Given the description of an element on the screen output the (x, y) to click on. 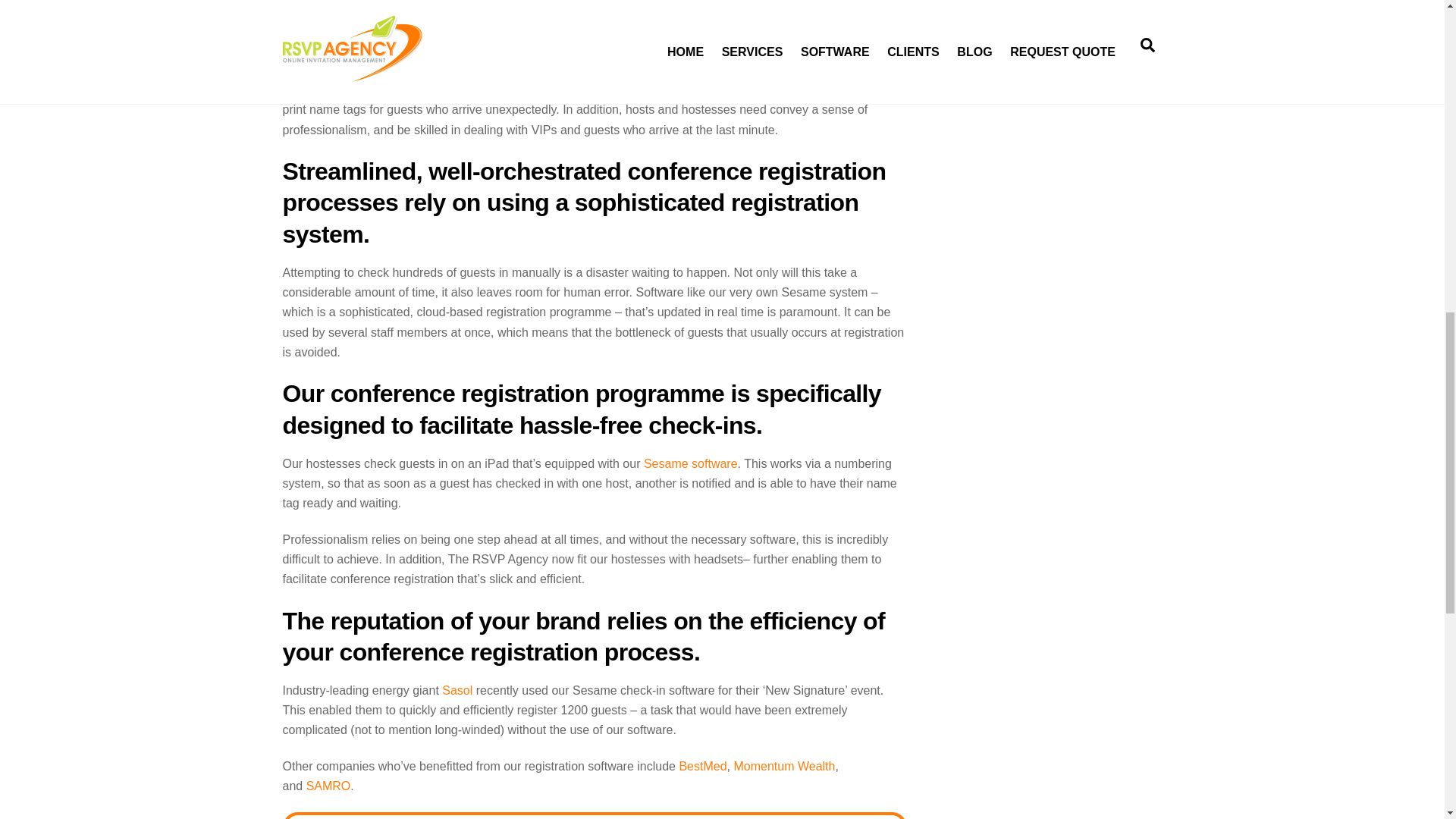
SAMRO (327, 785)
Sasol (456, 689)
Momentum Wealth (783, 766)
BestMed (702, 766)
 Sesame software (688, 463)
